Given the description of an element on the screen output the (x, y) to click on. 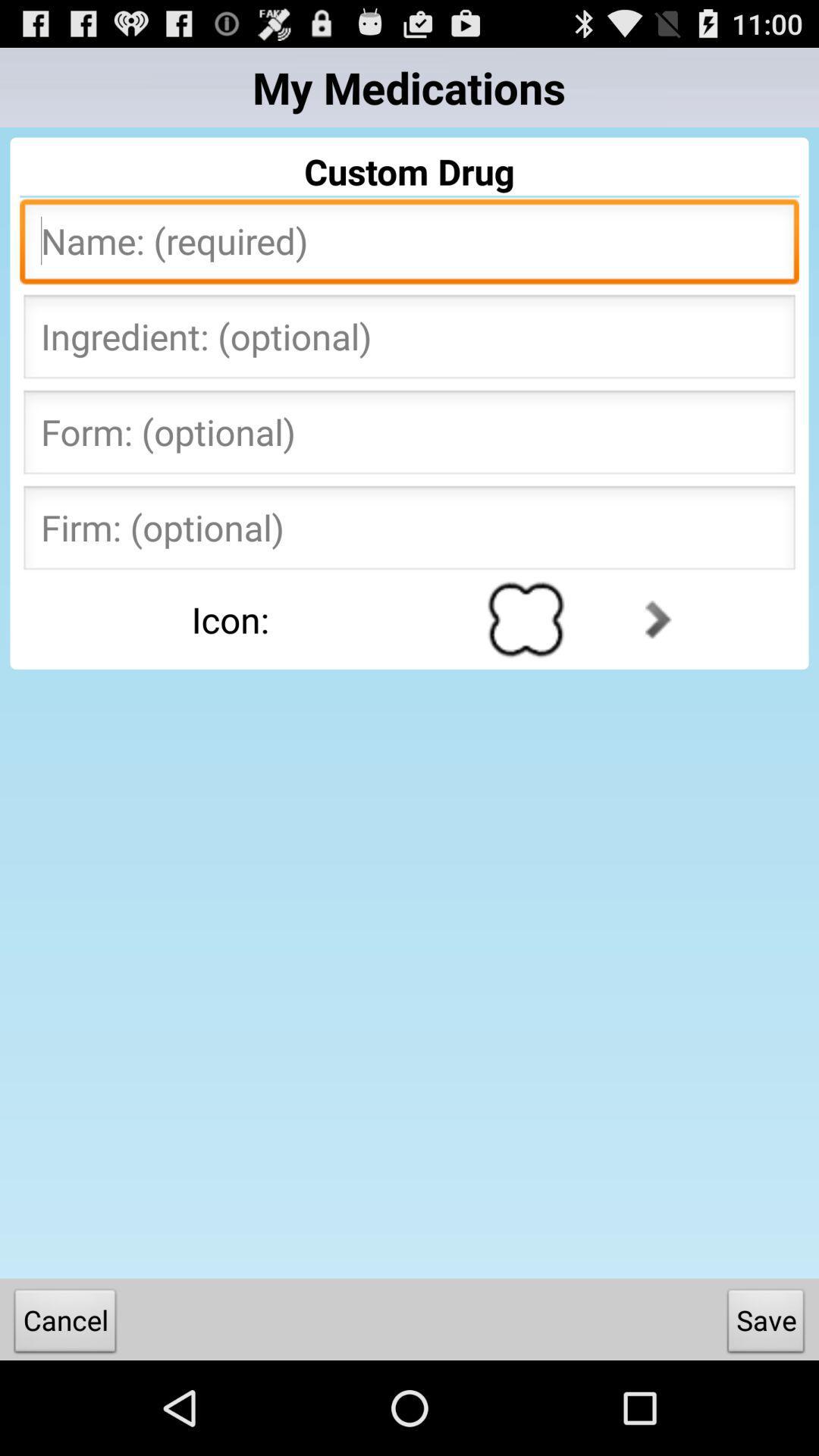
jump to save (765, 1324)
